Given the description of an element on the screen output the (x, y) to click on. 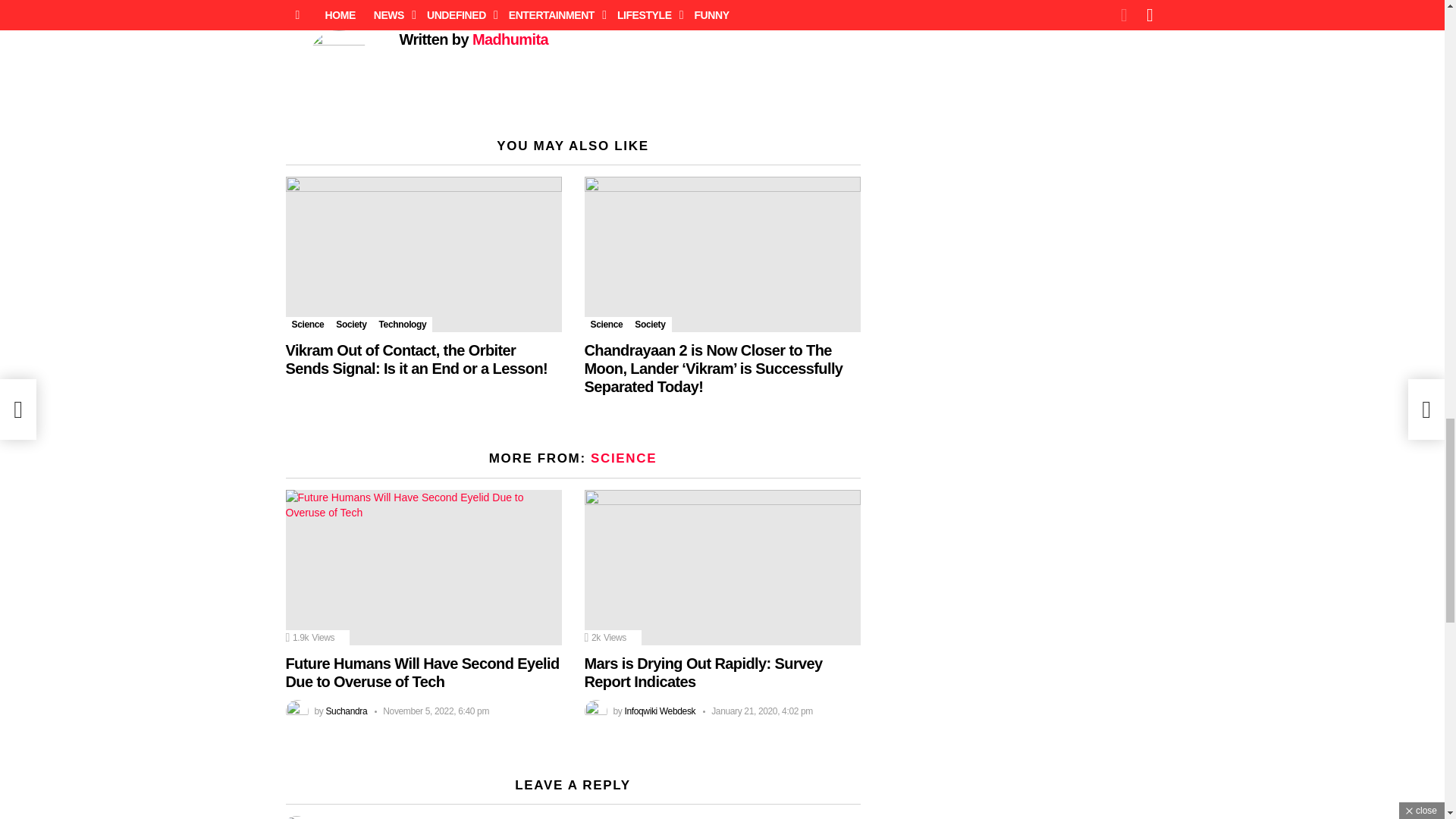
Future Humans Will Have Second Eyelid Due to Overuse of Tech (422, 567)
Posts by Infoqwiki Webdesk (659, 710)
Posts by Suchandra (345, 710)
Mars is Drying Out Rapidly: Survey Report Indicates (721, 567)
